Given the description of an element on the screen output the (x, y) to click on. 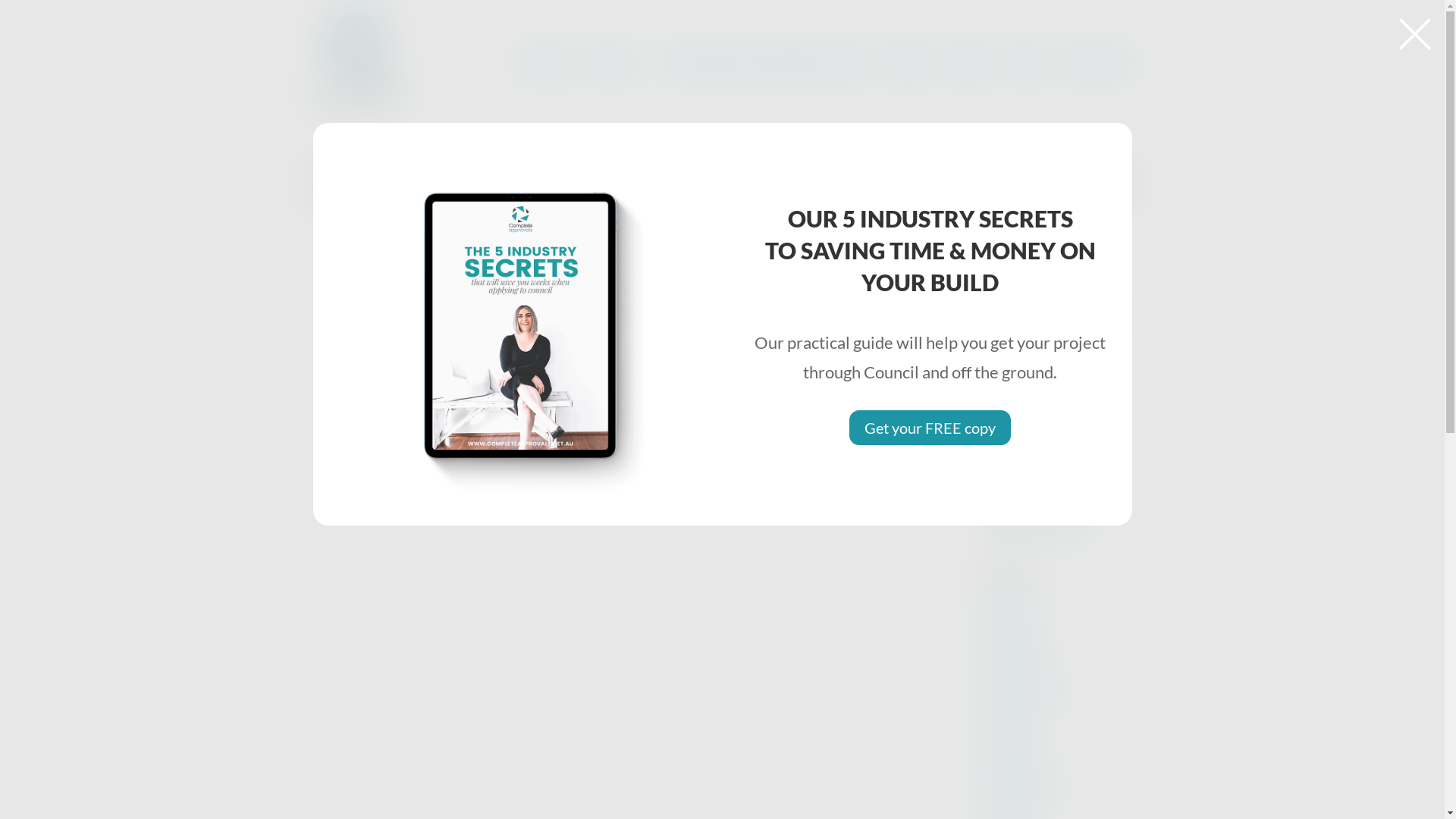
Retrospective Approval Element type: text (1049, 448)
July 2021 Element type: text (1006, 808)
January 2023 Element type: text (1015, 663)
Gallery Element type: text (969, 90)
July 2023 Element type: text (1006, 591)
About Element type: text (618, 90)
September 2022 Element type: text (1021, 699)
September 2021 Element type: text (1021, 790)
October 2022 Element type: text (1016, 681)
Get your FREE copy Element type: text (929, 427)
April 2023 Element type: text (1008, 627)
Services Element type: text (546, 90)
May 2023 Element type: text (1006, 609)
Complete Home Digital Journal Element type: text (766, 90)
iPad Air Mockup - 5 industry secrets ebook sml squ Element type: hover (513, 324)
Media Element type: text (907, 90)
Contact Us Element type: text (1095, 90)
July 2022 Element type: text (1006, 718)
June 2022 Element type: text (1007, 736)
Blog Element type: text (1027, 90)
April 2022 Element type: text (1008, 753)
October 2021 Element type: text (1016, 771)
March 2023 Element type: text (1012, 646)
Retrospective Approval Element type: text (1039, 493)
Retrospective Approval Element type: text (1039, 529)
Search Element type: text (1107, 183)
